Given the description of an element on the screen output the (x, y) to click on. 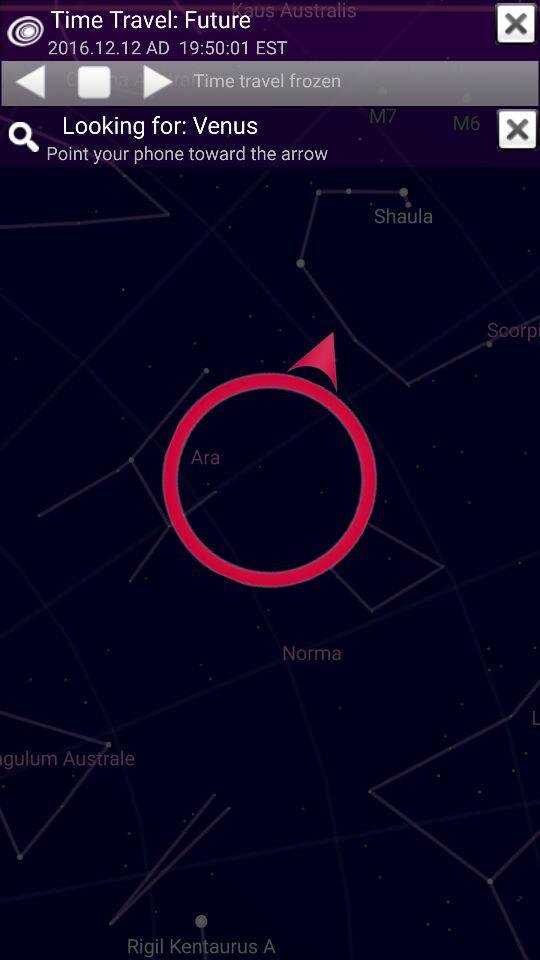
close window (517, 129)
